Given the description of an element on the screen output the (x, y) to click on. 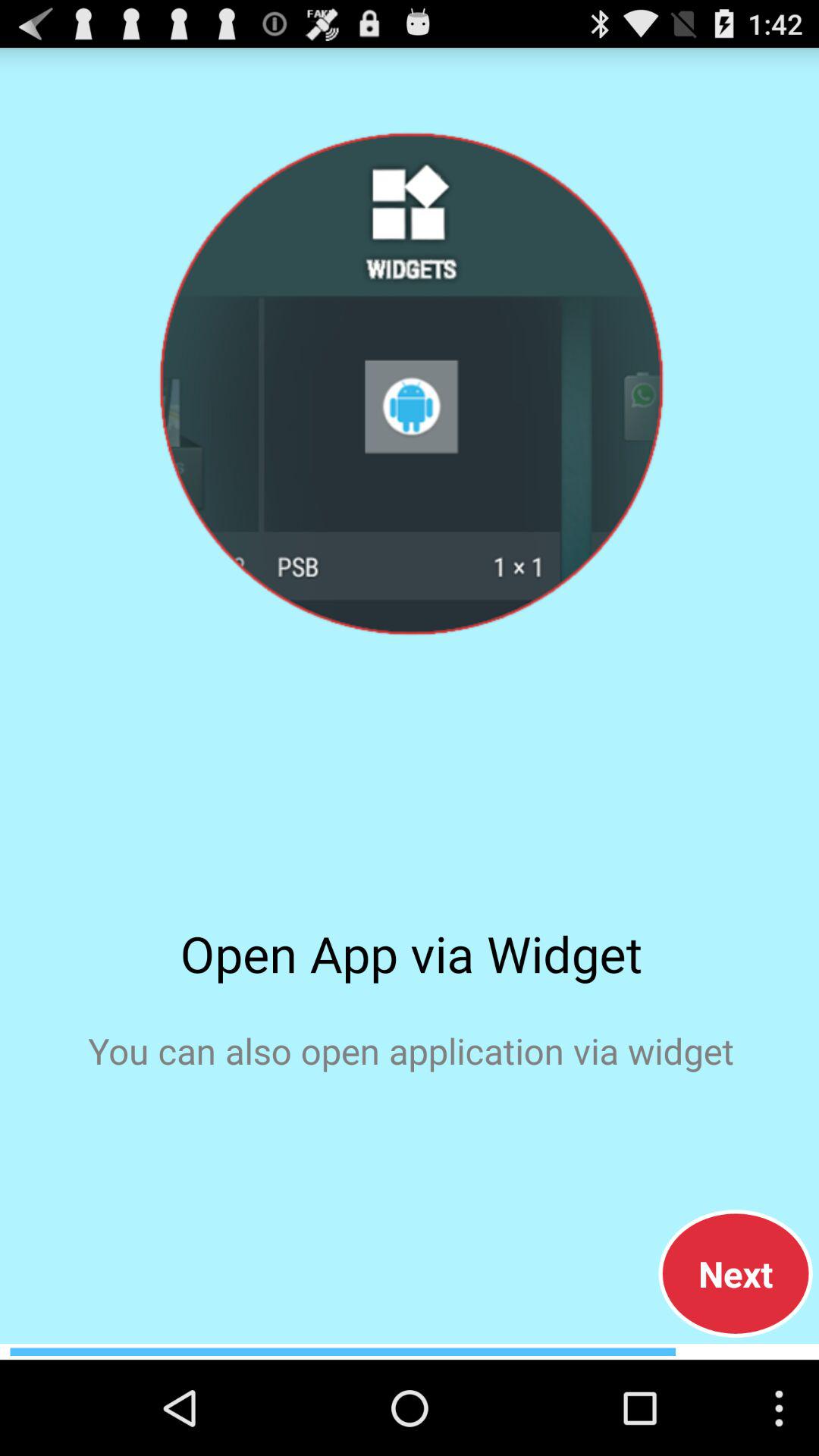
click next button (735, 1273)
